Given the description of an element on the screen output the (x, y) to click on. 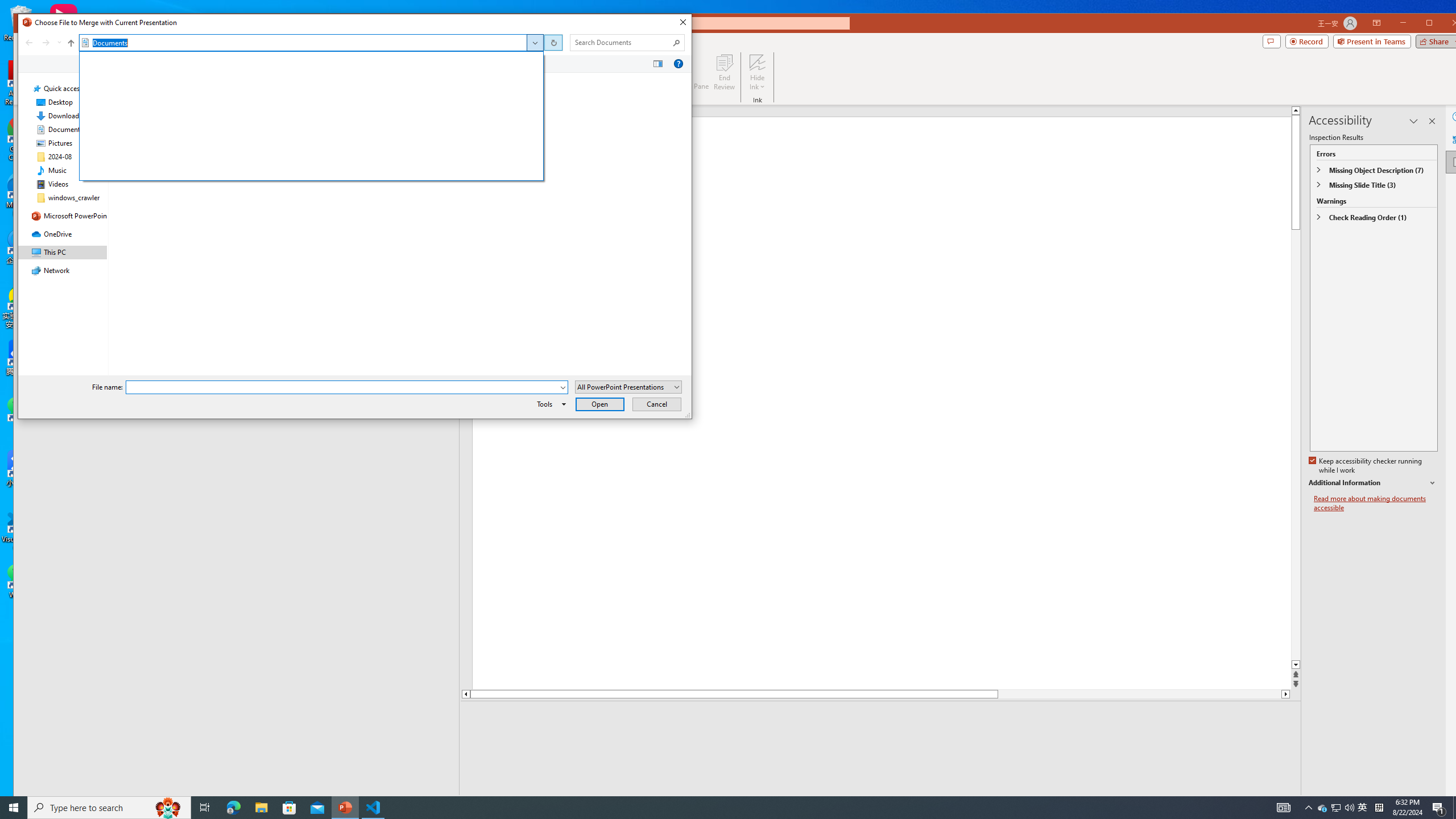
Command Module (354, 63)
Visual Studio Code - 1 running window (373, 807)
Slide Notes (881, 717)
Hide Ink (757, 72)
WeChat Files (286, 120)
End Review (723, 72)
Date modified (304, 120)
Size (436, 79)
